Given the description of an element on the screen output the (x, y) to click on. 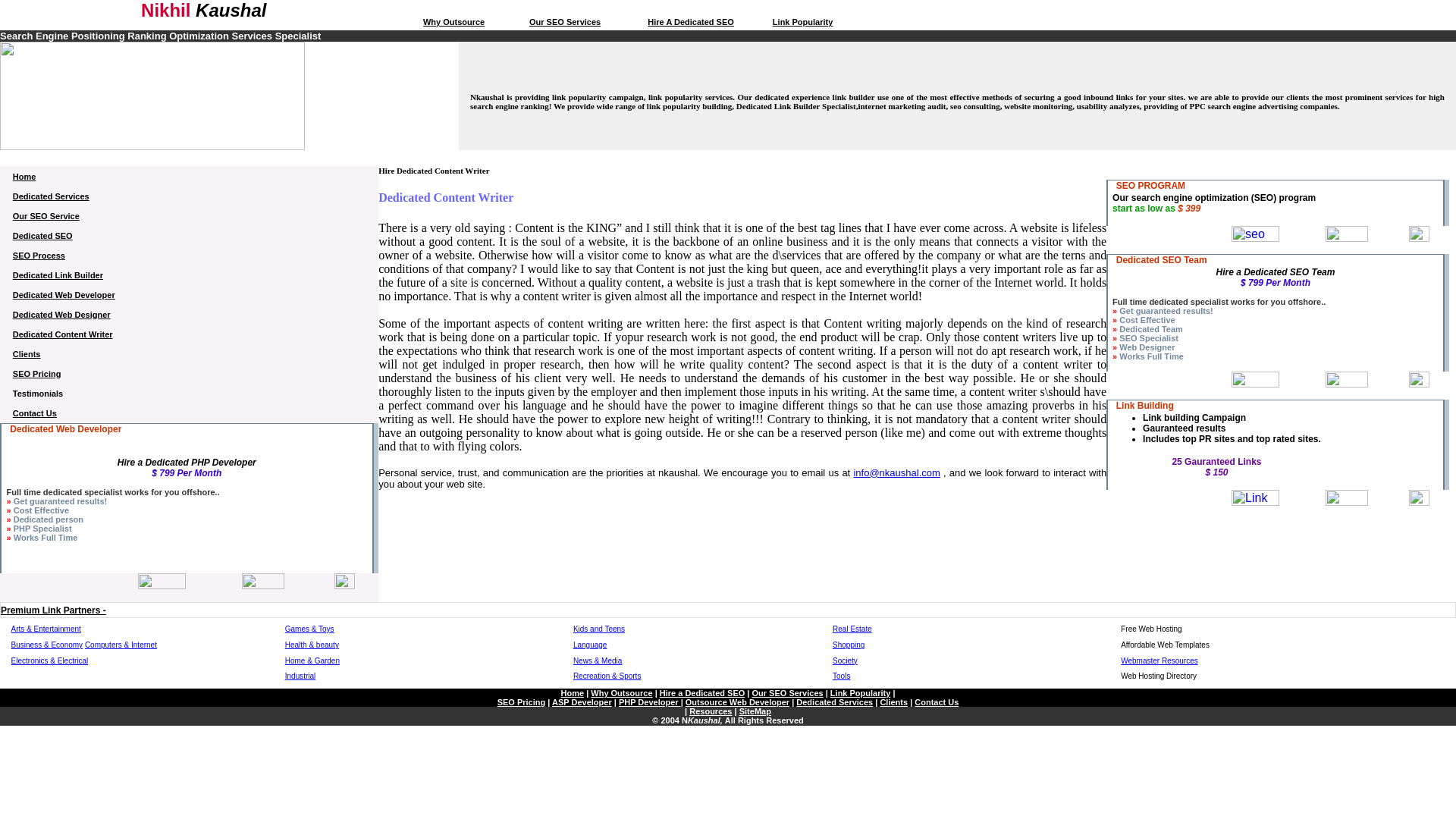
Request a Quote (1353, 157)
Hire A Dedicated SEO (690, 21)
Link Popularity (802, 21)
Dedicated Services (50, 194)
Dedicated Web Developer (64, 293)
Our SEO Service (46, 215)
Dedicated Web Designer (61, 313)
PHP Developer (101, 157)
SEO Process (39, 254)
ASP Developer (350, 157)
